Given the description of an element on the screen output the (x, y) to click on. 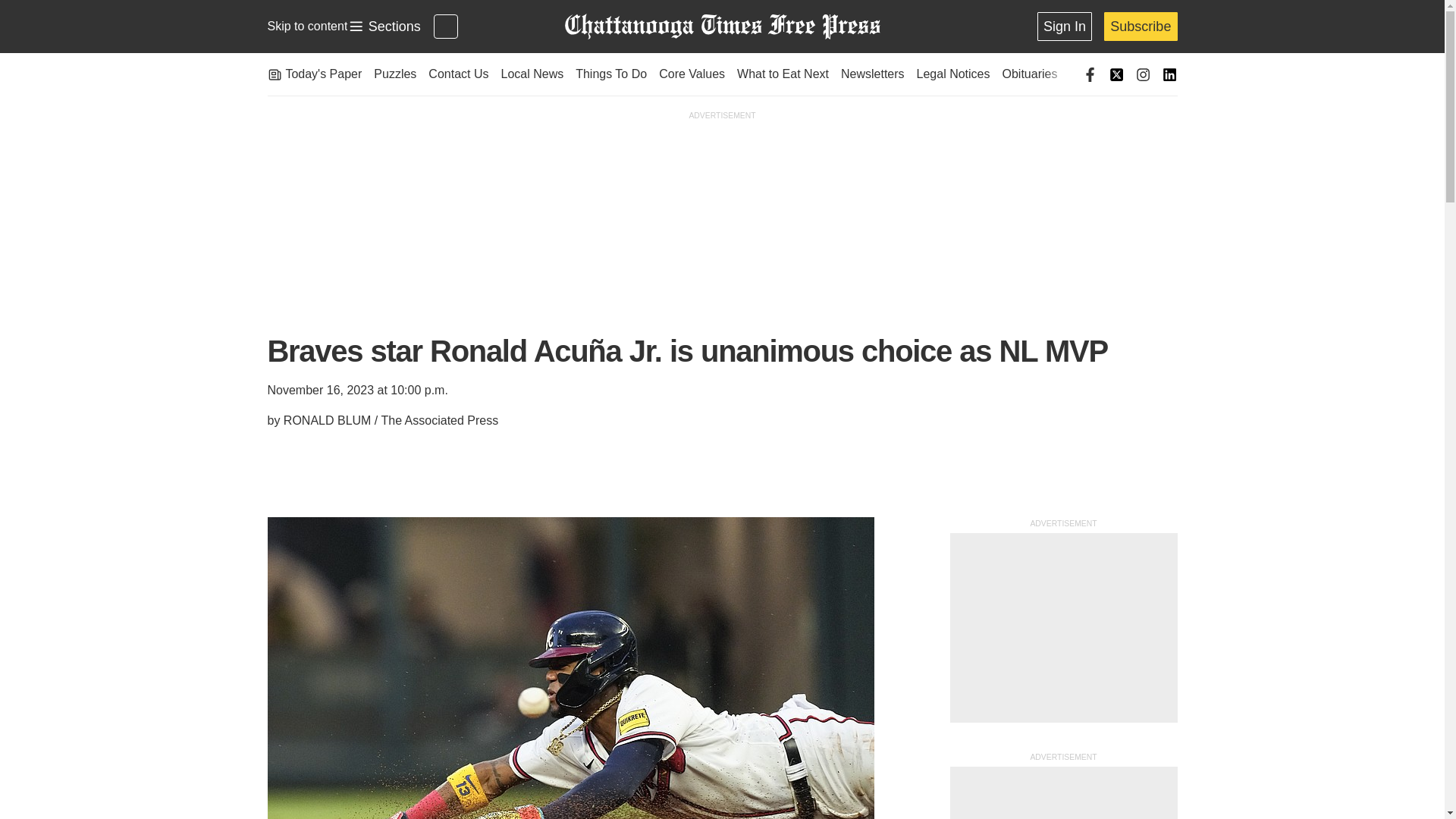
Times Free Press (721, 26)
Skip to content (383, 26)
